Given the description of an element on the screen output the (x, y) to click on. 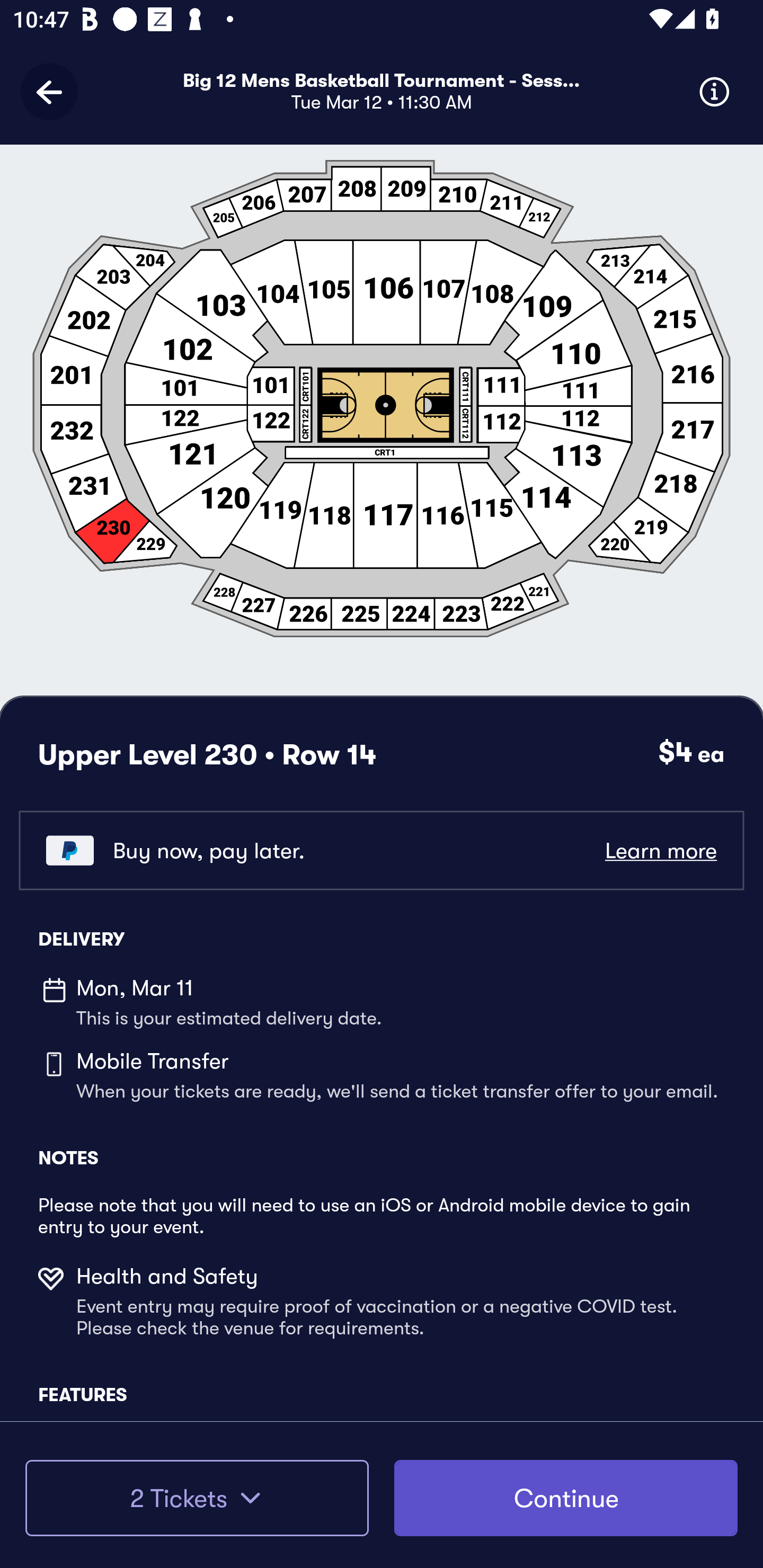
Learn more (660, 850)
2 Tickets (196, 1497)
Continue (565, 1497)
